Given the description of an element on the screen output the (x, y) to click on. 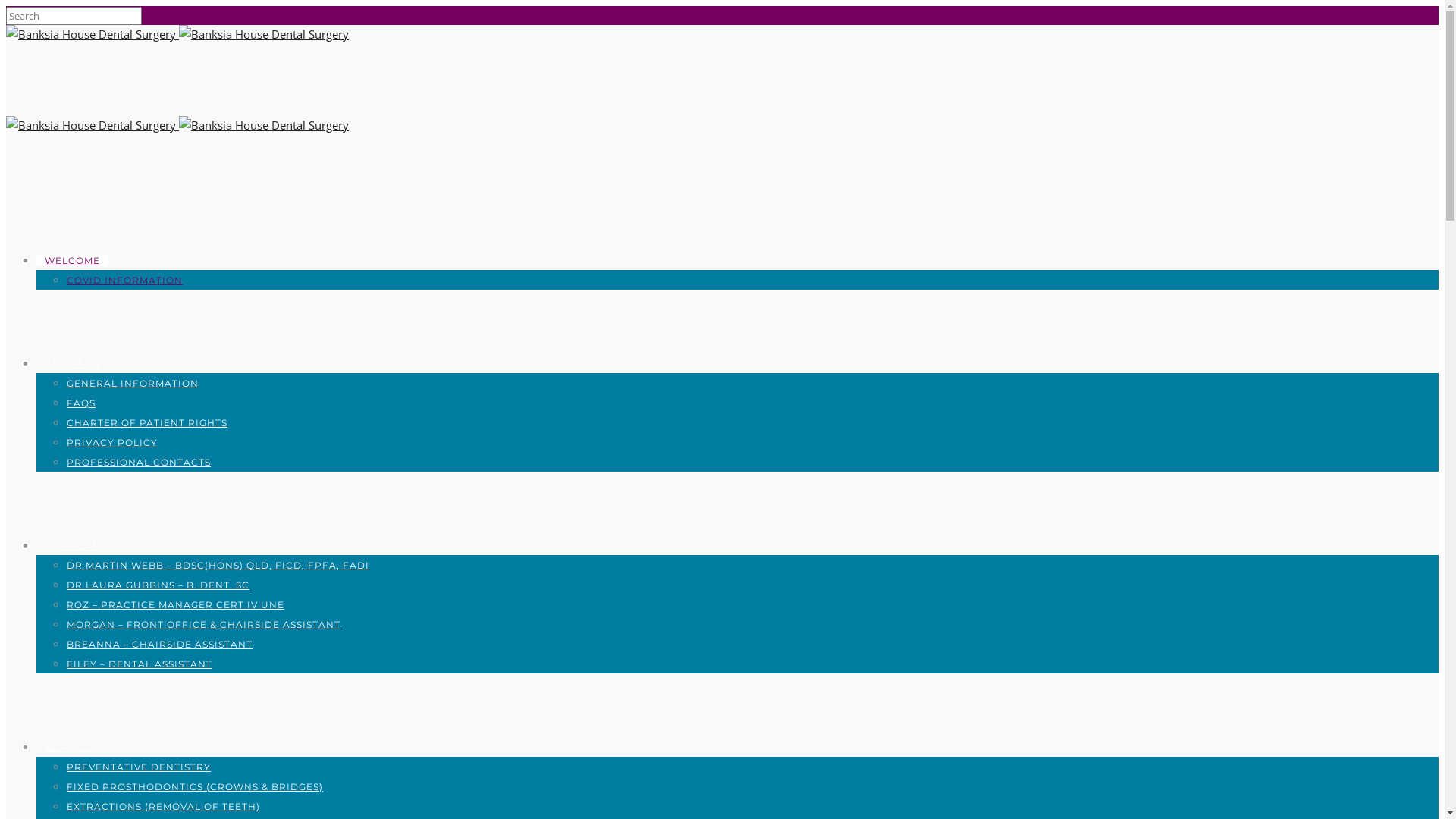
EXTRACTIONS (REMOVAL OF TEETH) Element type: text (163, 806)
GENERAL INFORMATION Element type: text (132, 383)
Banksia House Dental Surgery Element type: hover (92, 33)
CHARTER OF PATIENT RIGHTS Element type: text (146, 422)
PROFESSIONAL CONTACTS Element type: text (138, 461)
OUR TEAM Element type: text (72, 545)
WELCOME Element type: text (72, 260)
Banksia House Dental Surgery Element type: hover (263, 124)
FAQS Element type: text (80, 402)
SERVICES Element type: text (70, 747)
FIXED PROSTHODONTICS (CROWNS & BRIDGES) Element type: text (194, 786)
ABOUT US Element type: text (72, 363)
COVID INFORMATION Element type: text (124, 279)
PREVENTATIVE DENTISTRY Element type: text (138, 766)
Banksia House Dental Surgery Element type: hover (92, 124)
Banksia House Dental Surgery Element type: hover (263, 33)
PRIVACY POLICY Element type: text (111, 442)
